Given the description of an element on the screen output the (x, y) to click on. 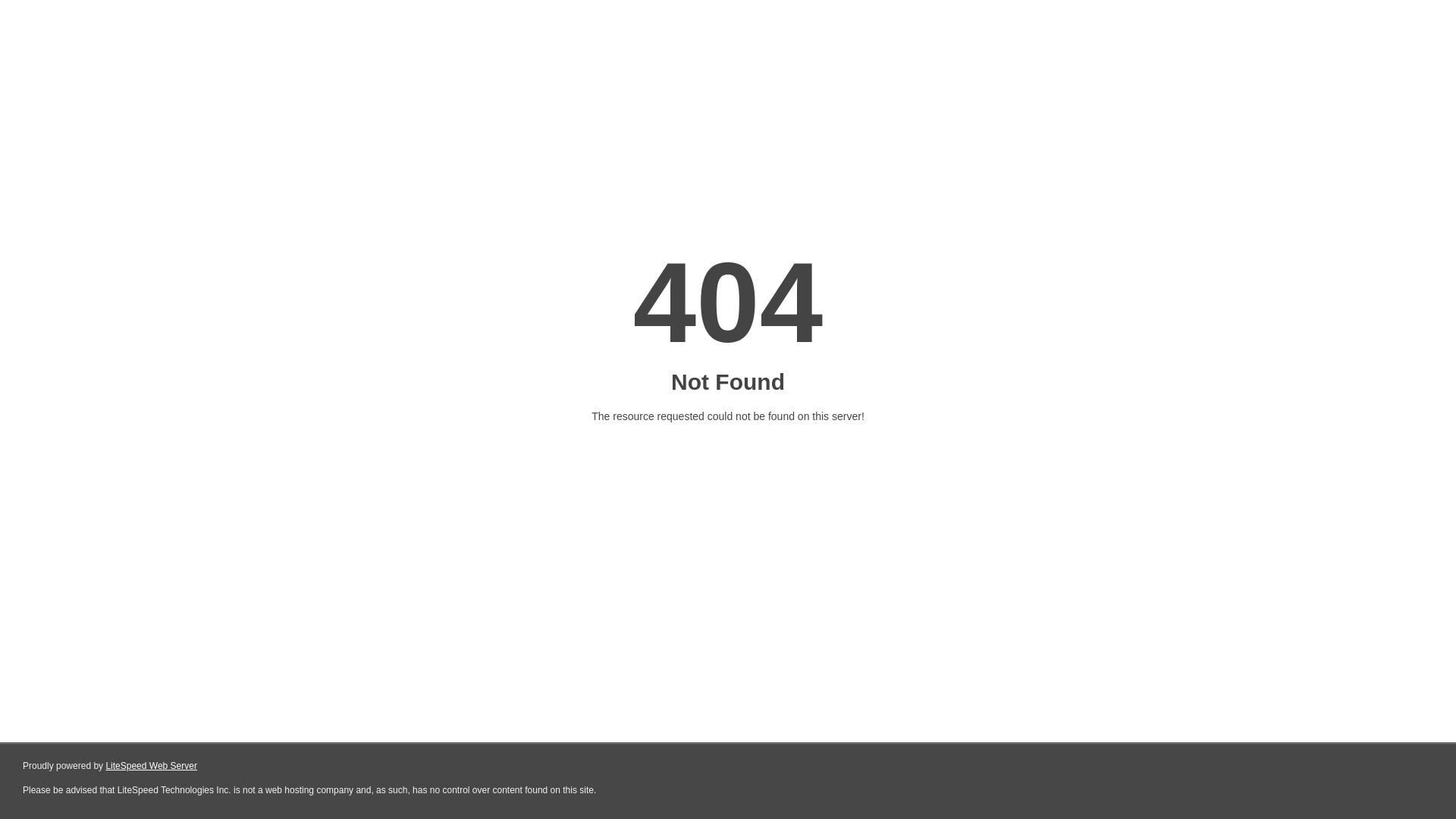
LiteSpeed Web Server Element type: text (151, 765)
